Given the description of an element on the screen output the (x, y) to click on. 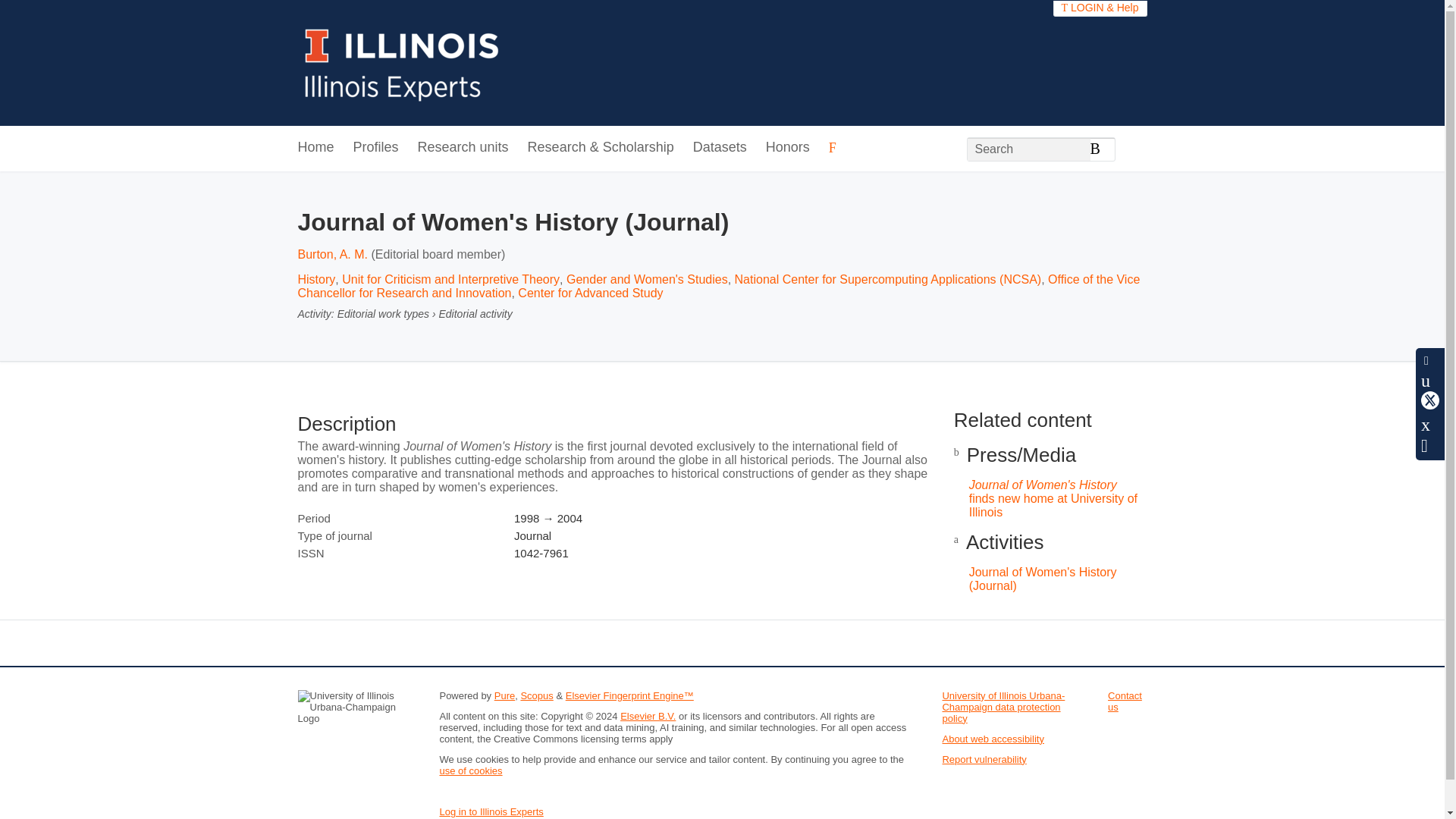
Office of the Vice Chancellor for Research and Innovation (718, 285)
Burton, A. M. (331, 254)
Honors (787, 148)
Profiles (375, 148)
Log in to Illinois Experts (491, 811)
Center for Advanced Study (590, 292)
Research units (462, 148)
University of Illinois Urbana-Champaign Home (402, 62)
Elsevier B.V. (647, 715)
